Given the description of an element on the screen output the (x, y) to click on. 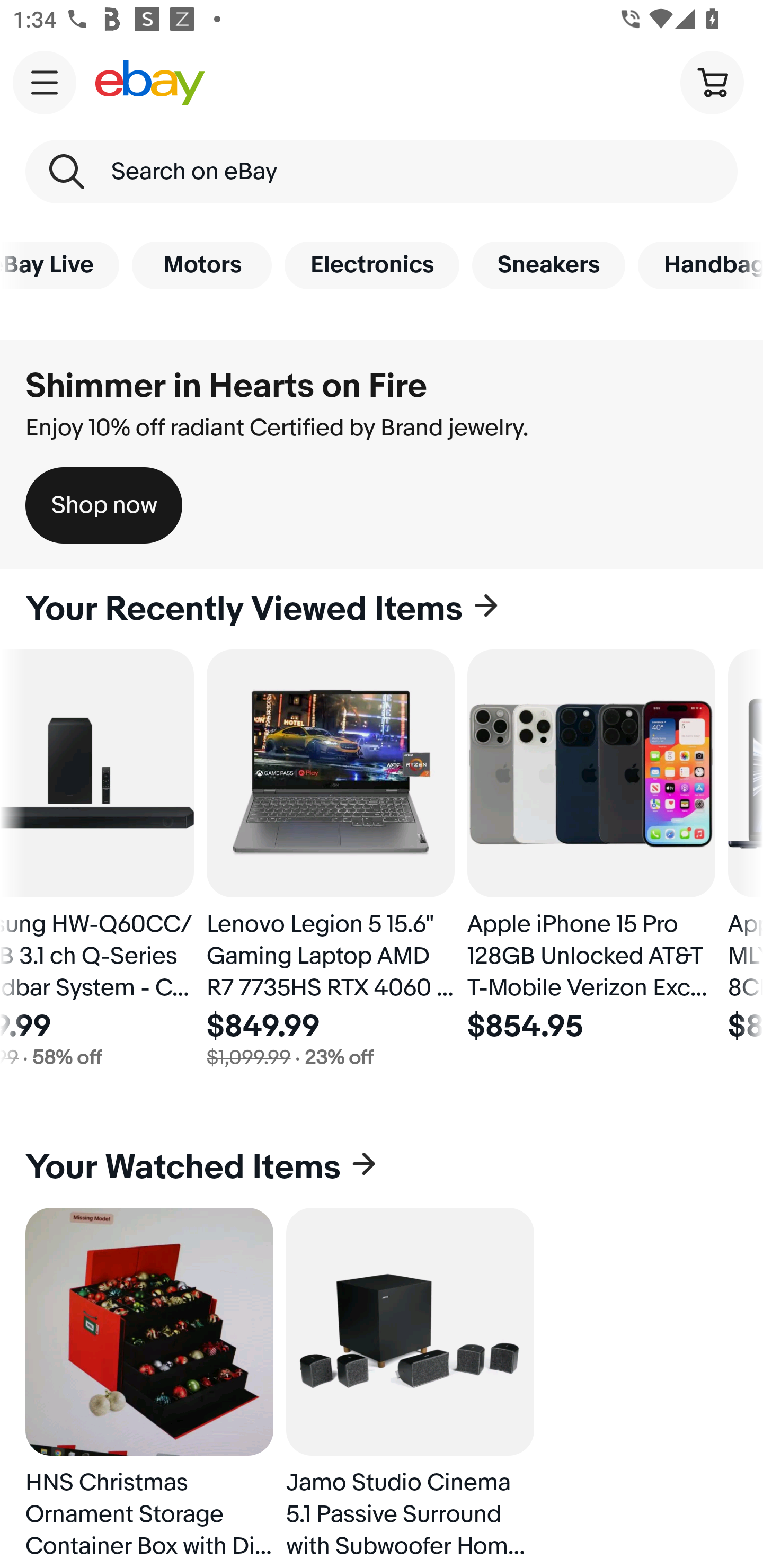
Main navigation, open (44, 82)
Cart button shopping cart (711, 81)
Search on eBay Search Keyword Search on eBay (381, 171)
eBay Live (59, 264)
Motors (201, 264)
Electronics (371, 264)
Sneakers (548, 264)
Handbags (700, 264)
Shimmer in Hearts on Fire (226, 386)
Shop now (103, 505)
Your Recently Viewed Items   (381, 609)
Your Watched Items   (381, 1167)
